Given the description of an element on the screen output the (x, y) to click on. 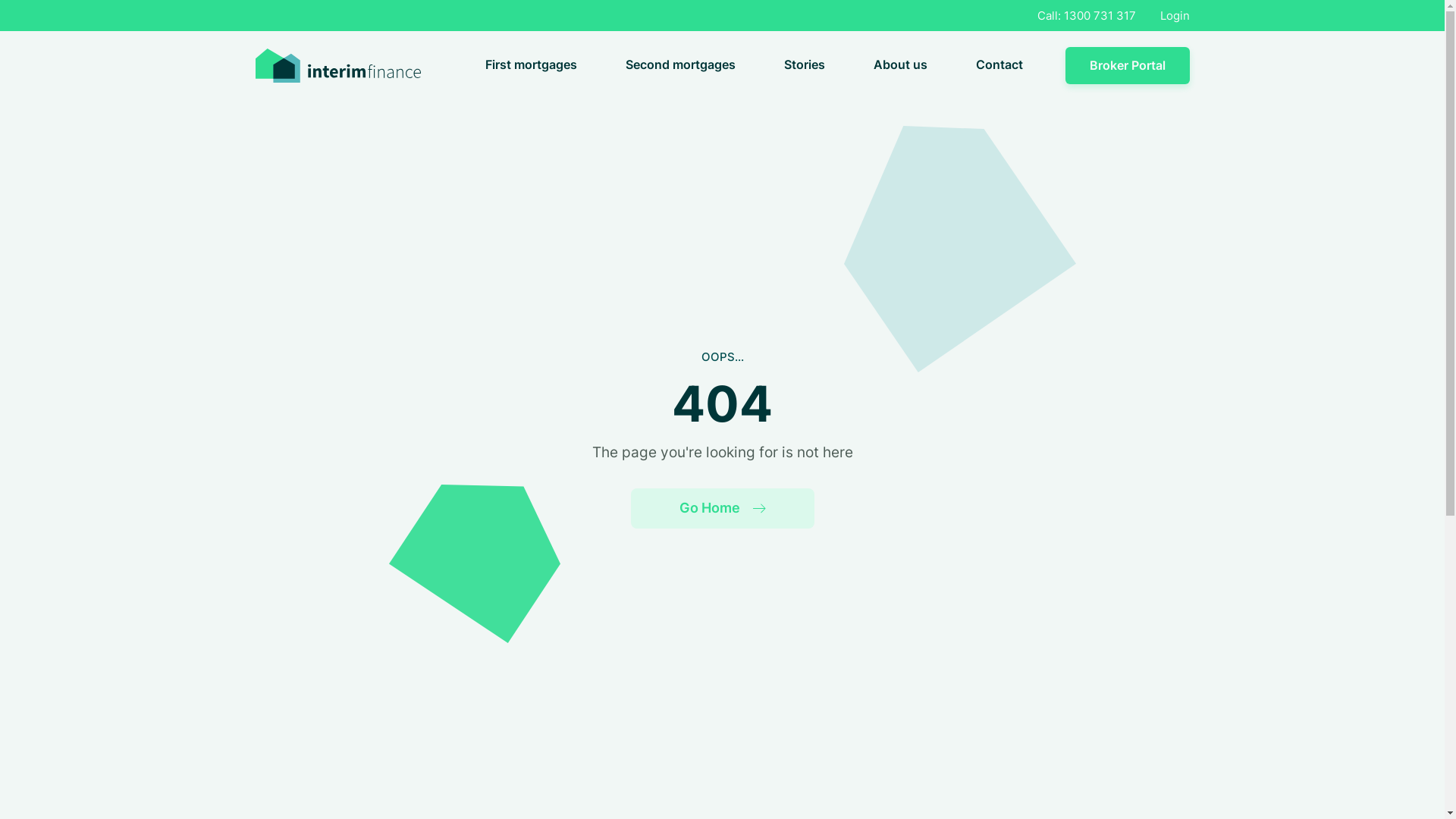
About us Element type: text (900, 65)
Call: 1300 731 317 Element type: text (1086, 15)
Second mortgages Element type: text (679, 65)
Go Home Element type: text (722, 508)
Stories Element type: text (804, 65)
Login Element type: text (1174, 15)
Contact Element type: text (998, 65)
Broker Portal Element type: text (1126, 65)
First mortgages Element type: text (531, 65)
